Given the description of an element on the screen output the (x, y) to click on. 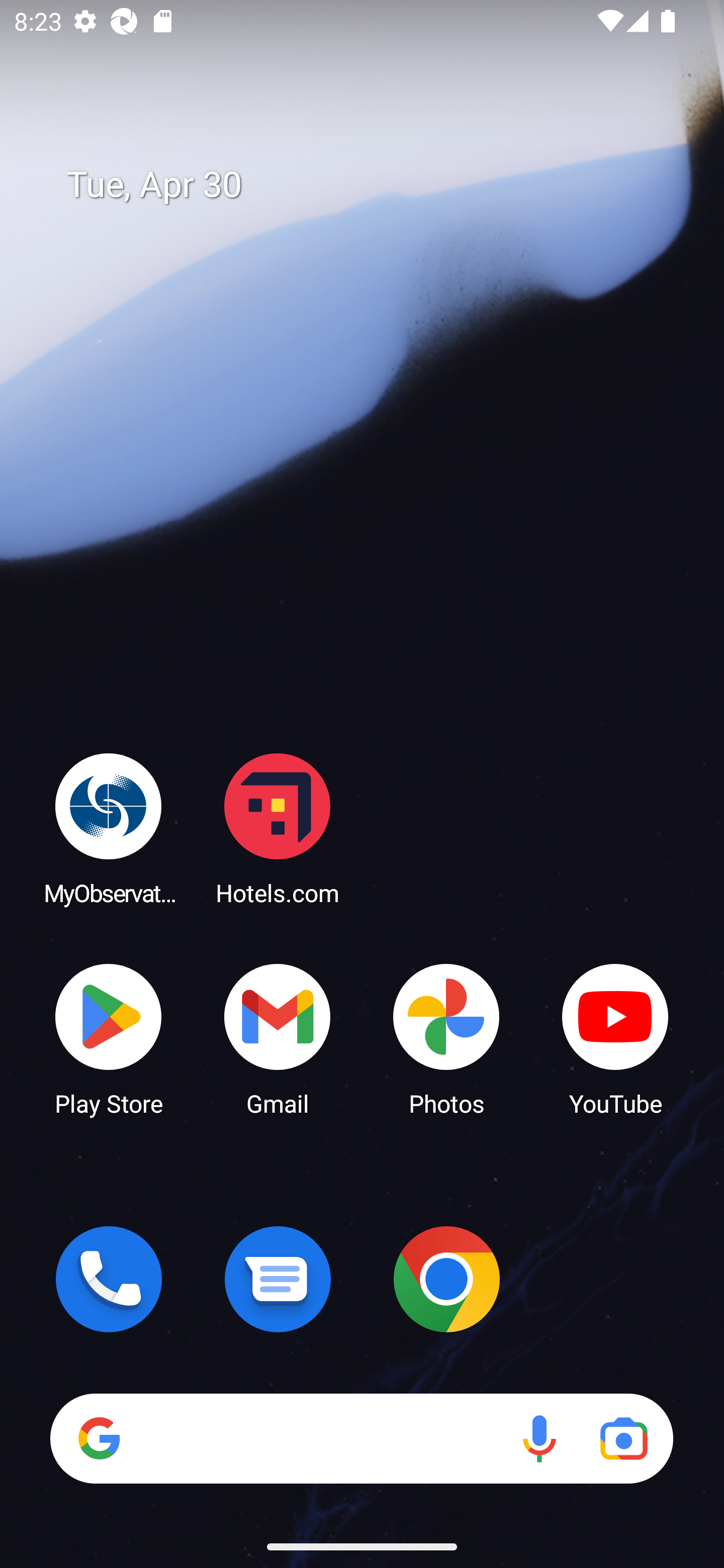
Tue, Apr 30 (375, 184)
MyObservatory (108, 828)
Hotels.com (277, 828)
Play Store (108, 1038)
Gmail (277, 1038)
Photos (445, 1038)
YouTube (615, 1038)
Phone (108, 1279)
Messages (277, 1279)
Chrome (446, 1279)
Voice search (539, 1438)
Google Lens (623, 1438)
